Given the description of an element on the screen output the (x, y) to click on. 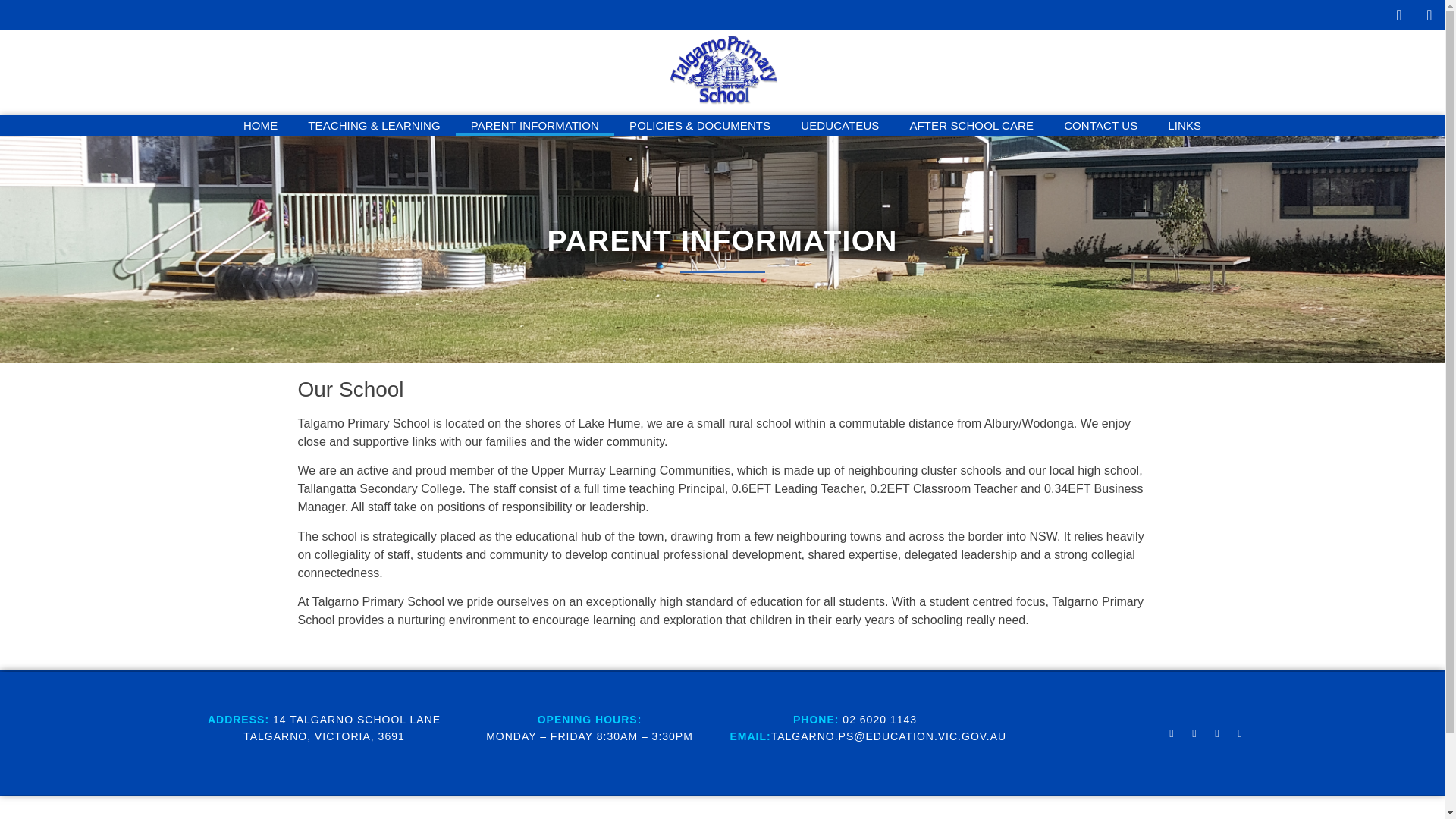
CONTACT US (1100, 125)
UEDUCATEUS (839, 125)
AFTER SCHOOL CARE (970, 125)
PARENT INFORMATION (534, 125)
LINKS (1184, 125)
HOME (260, 125)
